Given the description of an element on the screen output the (x, y) to click on. 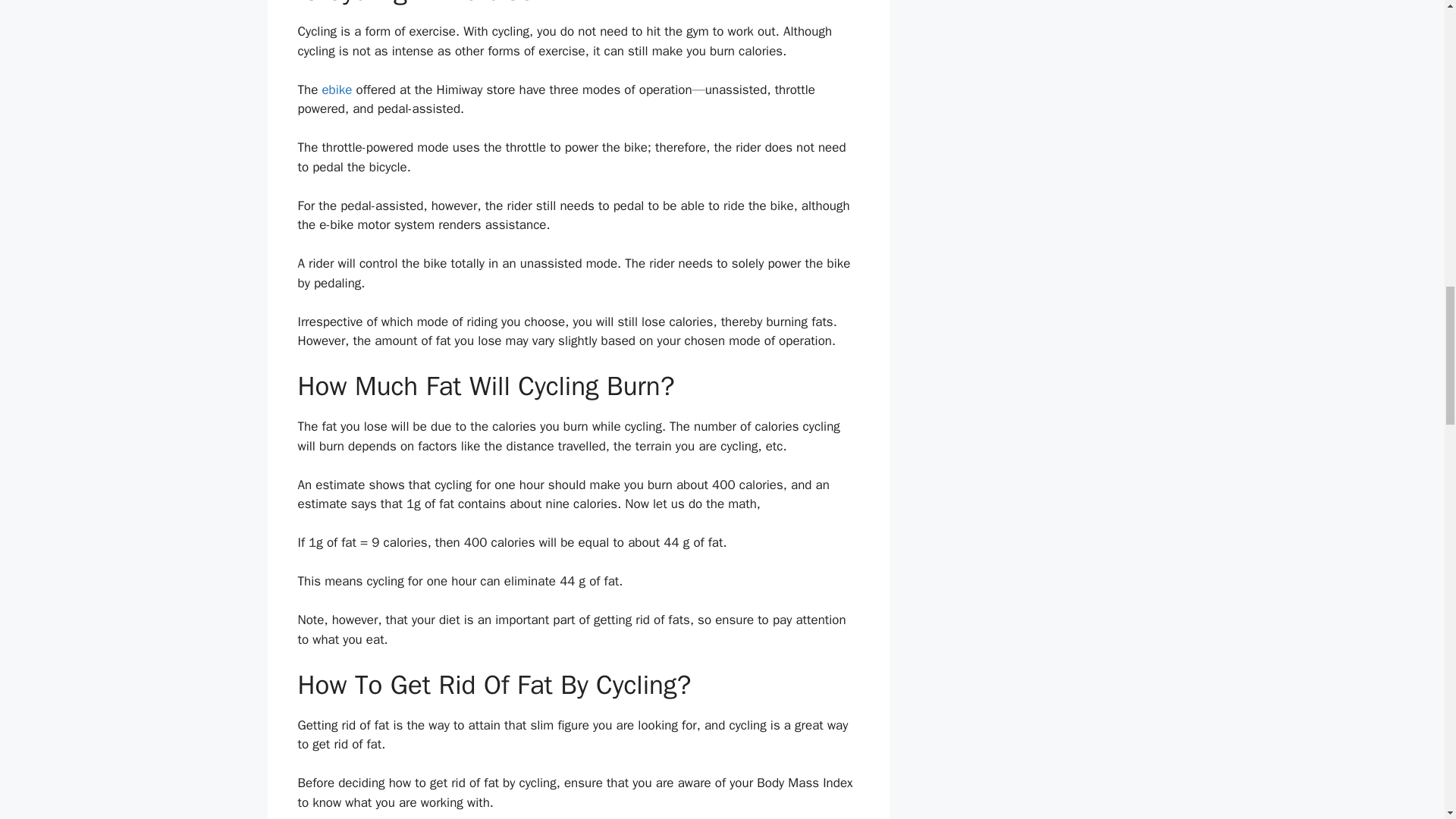
ebike (336, 89)
